Given the description of an element on the screen output the (x, y) to click on. 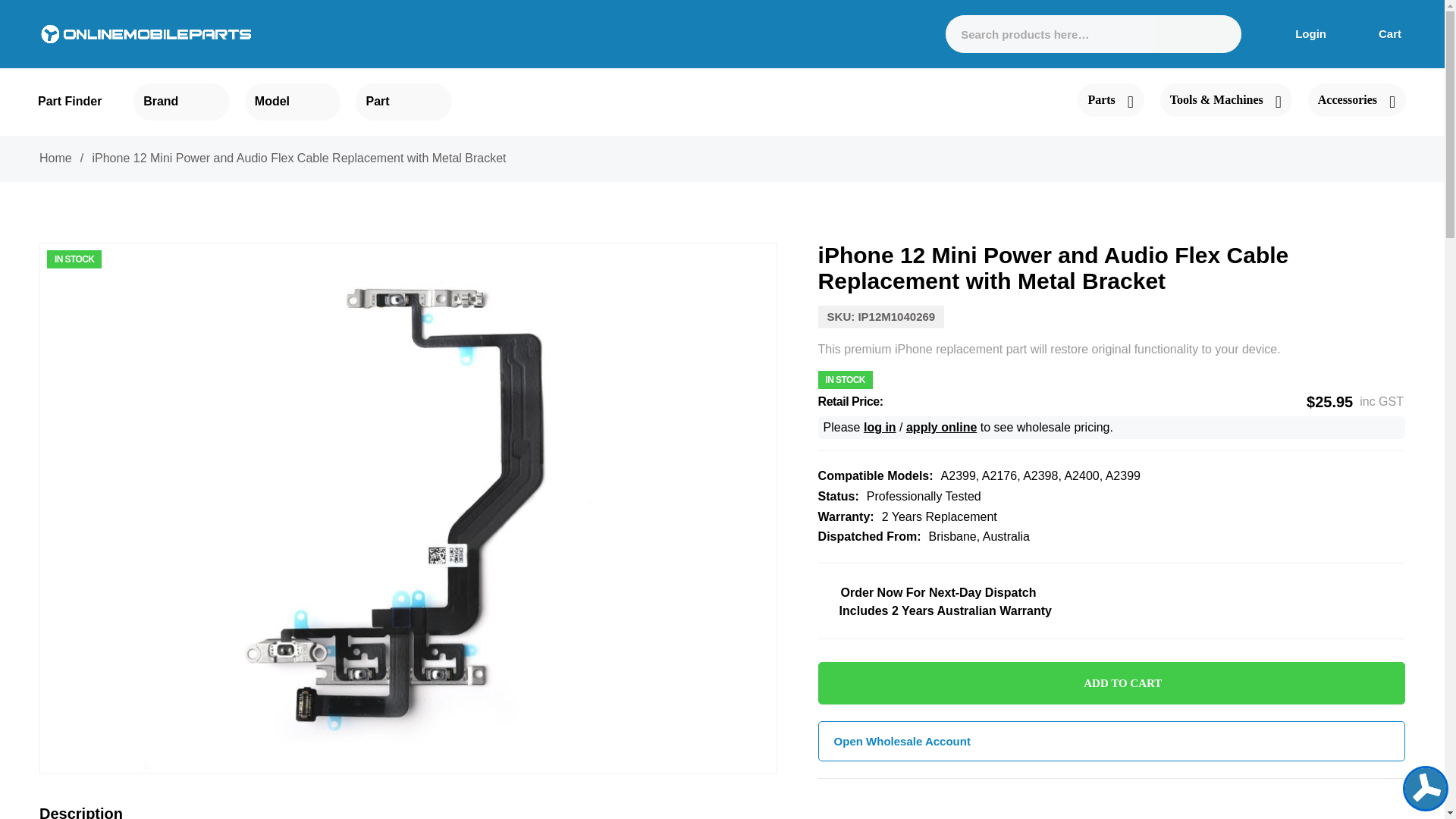
Login (1299, 33)
My Account (1299, 33)
Online Mobile Parts Logo (146, 33)
Add to Cart (1111, 682)
Cart (1380, 33)
Parts (1109, 100)
Search (1216, 34)
Go to Home Page (55, 157)
